Given the description of an element on the screen output the (x, y) to click on. 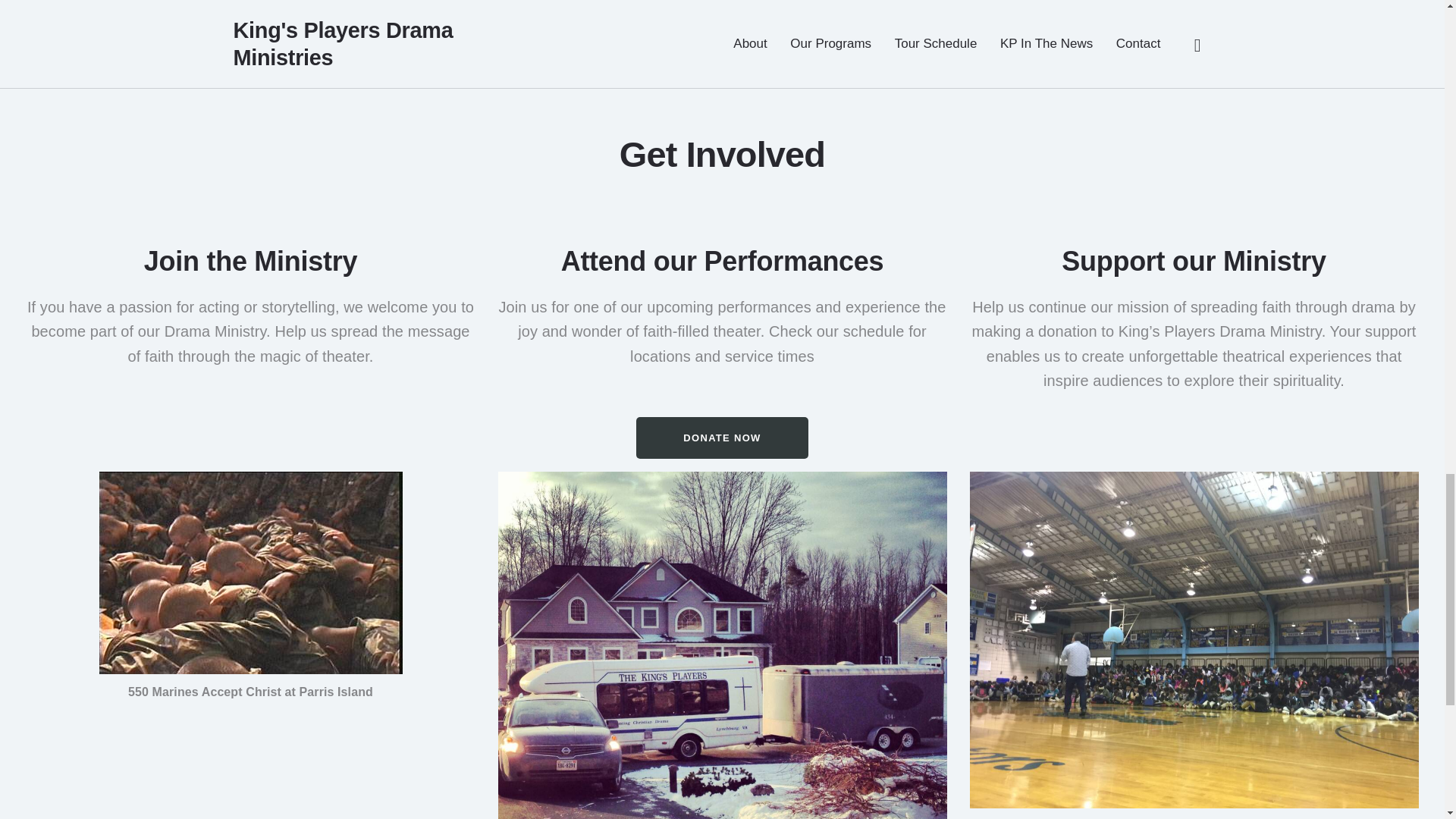
LEARN MORE (818, 20)
DONATE NOW (722, 437)
LEARN MORE (166, 43)
